Given the description of an element on the screen output the (x, y) to click on. 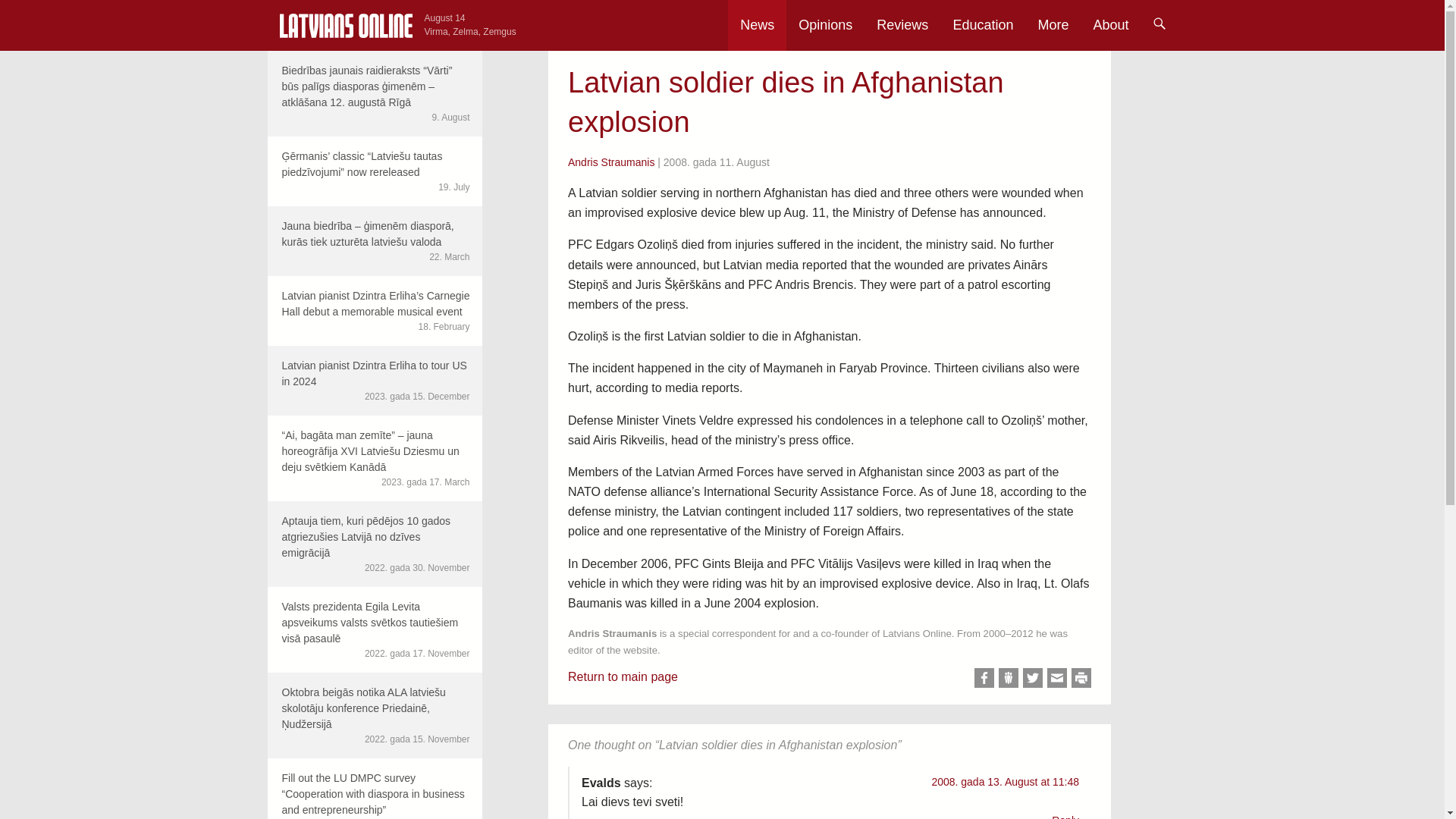
Return to main page (622, 676)
Opinions (825, 25)
Reviews (902, 25)
News (757, 25)
Share on Draugiem.lv (1007, 677)
Education (982, 25)
More (1052, 25)
Share on Twitter (1032, 677)
About (1110, 25)
